Given the description of an element on the screen output the (x, y) to click on. 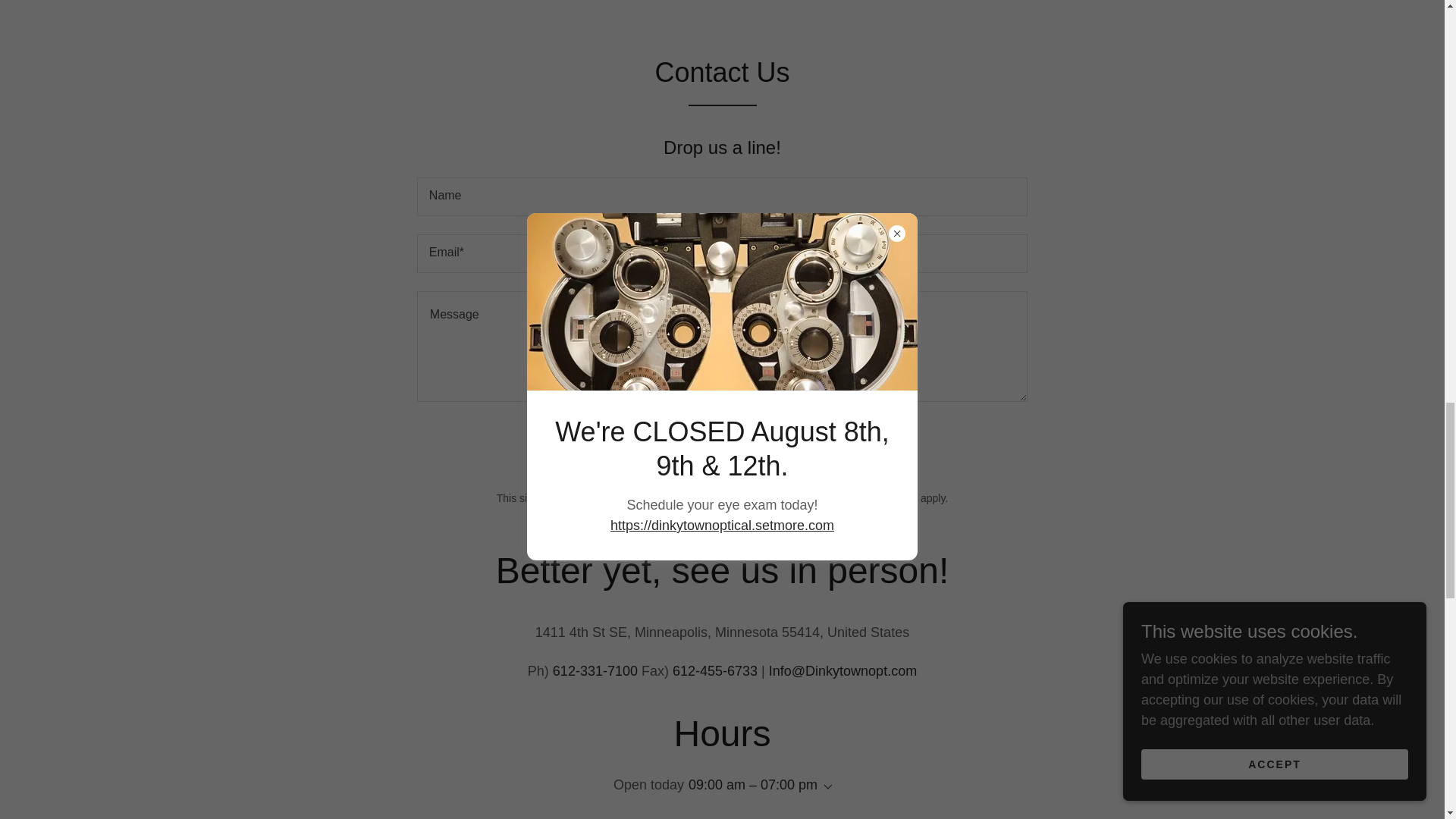
SEND (722, 445)
Privacy Policy (782, 498)
612-455-6733 (714, 670)
612-331-7100 (595, 670)
Terms of Service (877, 498)
